Given the description of an element on the screen output the (x, y) to click on. 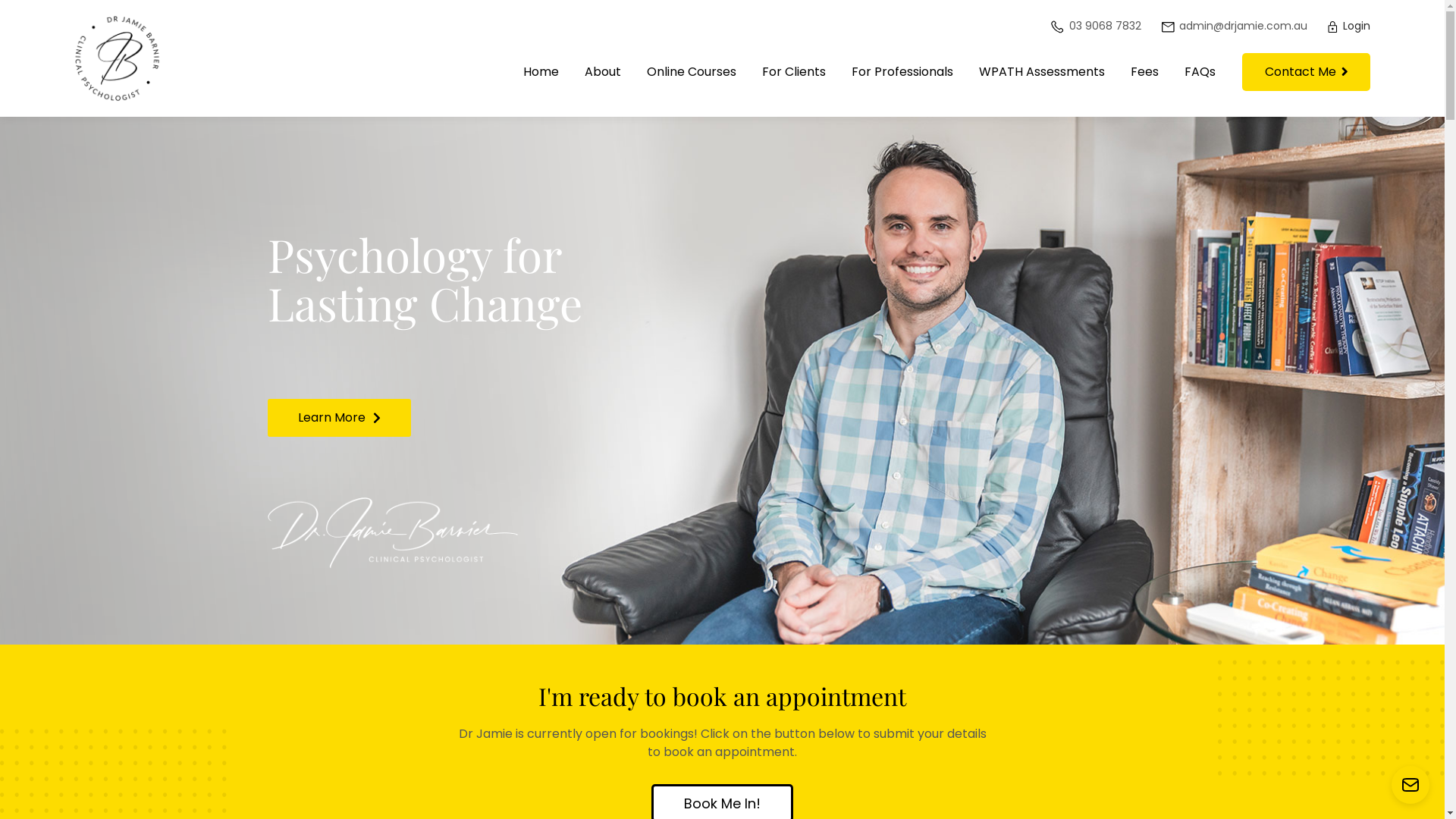
Home Element type: text (540, 71)
For Professionals Element type: text (902, 71)
FAQs Element type: text (1199, 71)
Contact Me Element type: text (1306, 72)
Fees Element type: text (1144, 71)
About Element type: text (602, 71)
Login Element type: text (1347, 25)
Online Courses Element type: text (691, 71)
For Clients Element type: text (793, 71)
WPATH Assessments Element type: text (1041, 71)
